Given the description of an element on the screen output the (x, y) to click on. 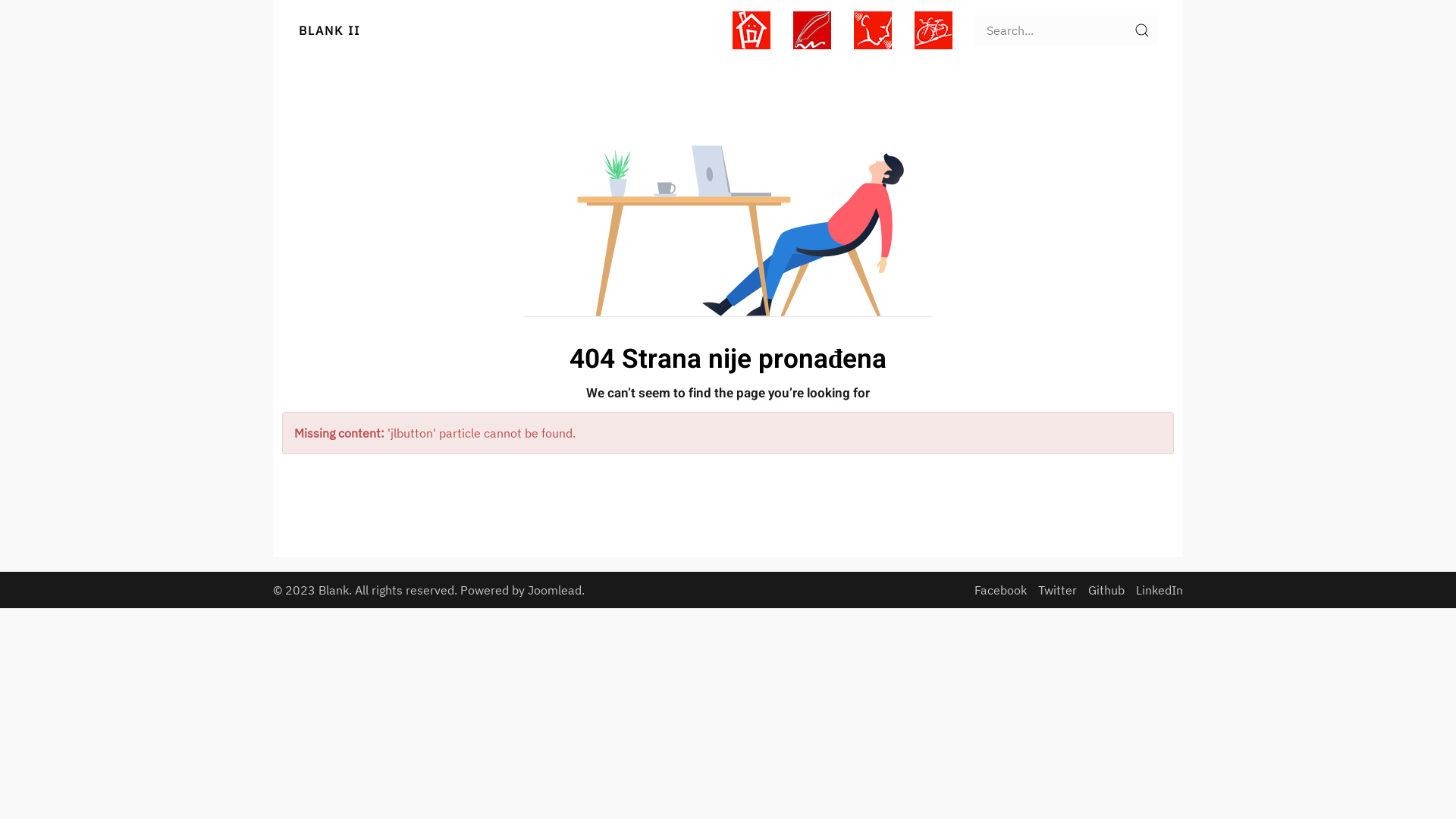
Twitter Element type: text (1057, 589)
Putopisi Element type: hover (933, 30)
Facebook Element type: text (1000, 589)
Politika Element type: hover (872, 30)
Joomlead Element type: text (554, 589)
BLANK II Element type: text (329, 30)
Github Element type: text (1106, 589)
LinkedIn Element type: text (1159, 589)
